Given the description of an element on the screen output the (x, y) to click on. 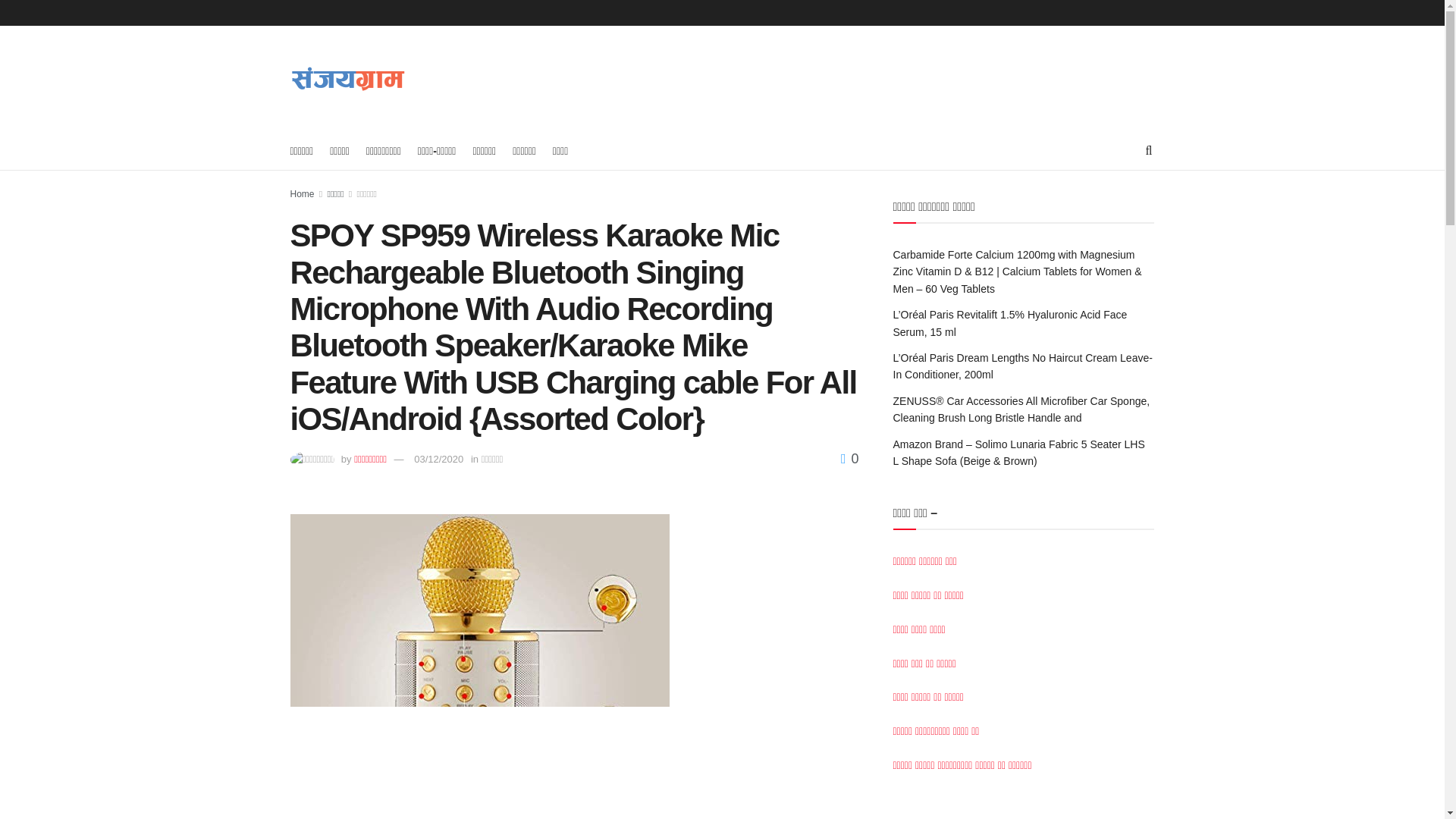
Home (301, 194)
